Given the description of an element on the screen output the (x, y) to click on. 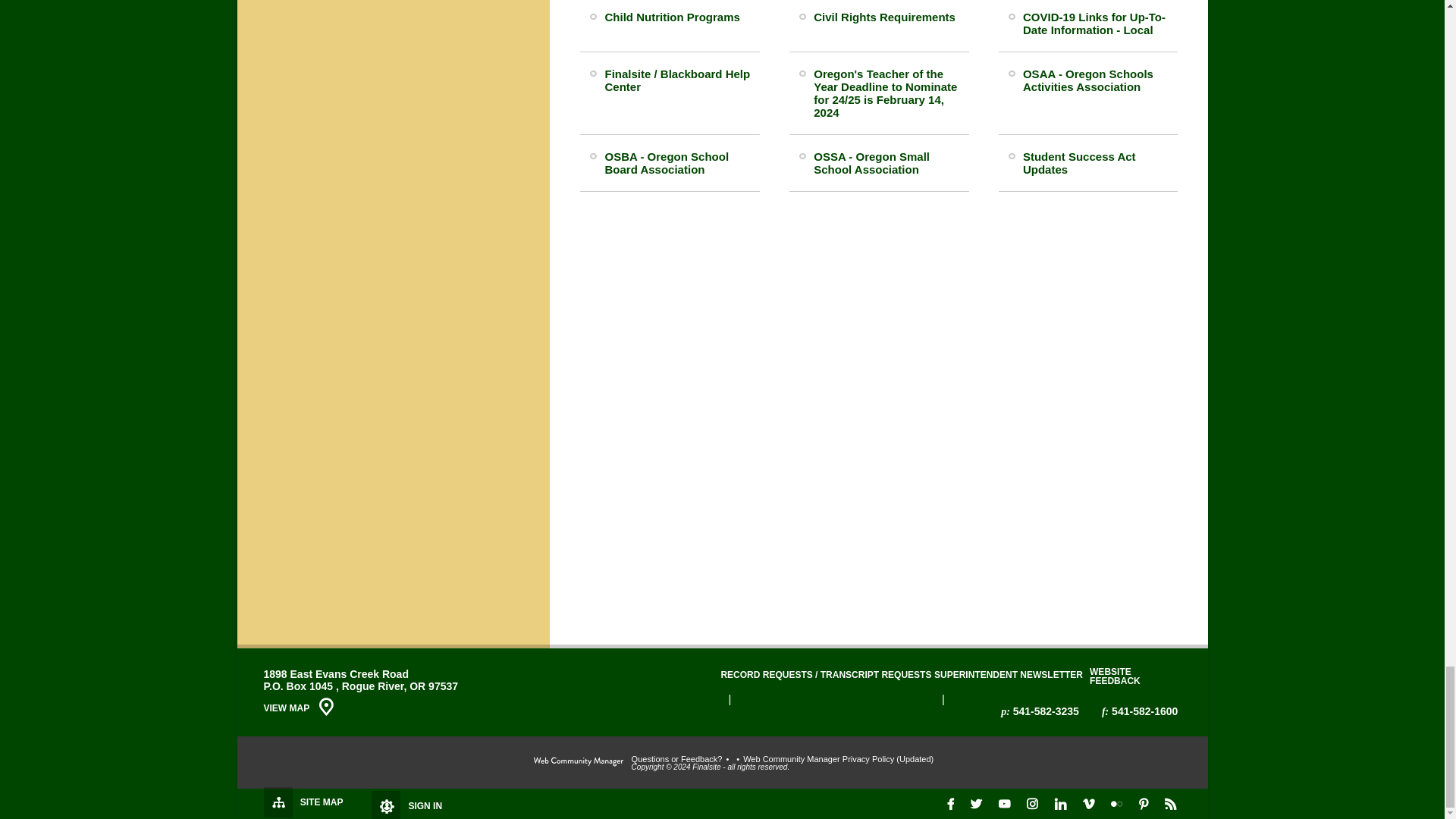
Finalsite - all rights reserved (578, 761)
